Given the description of an element on the screen output the (x, y) to click on. 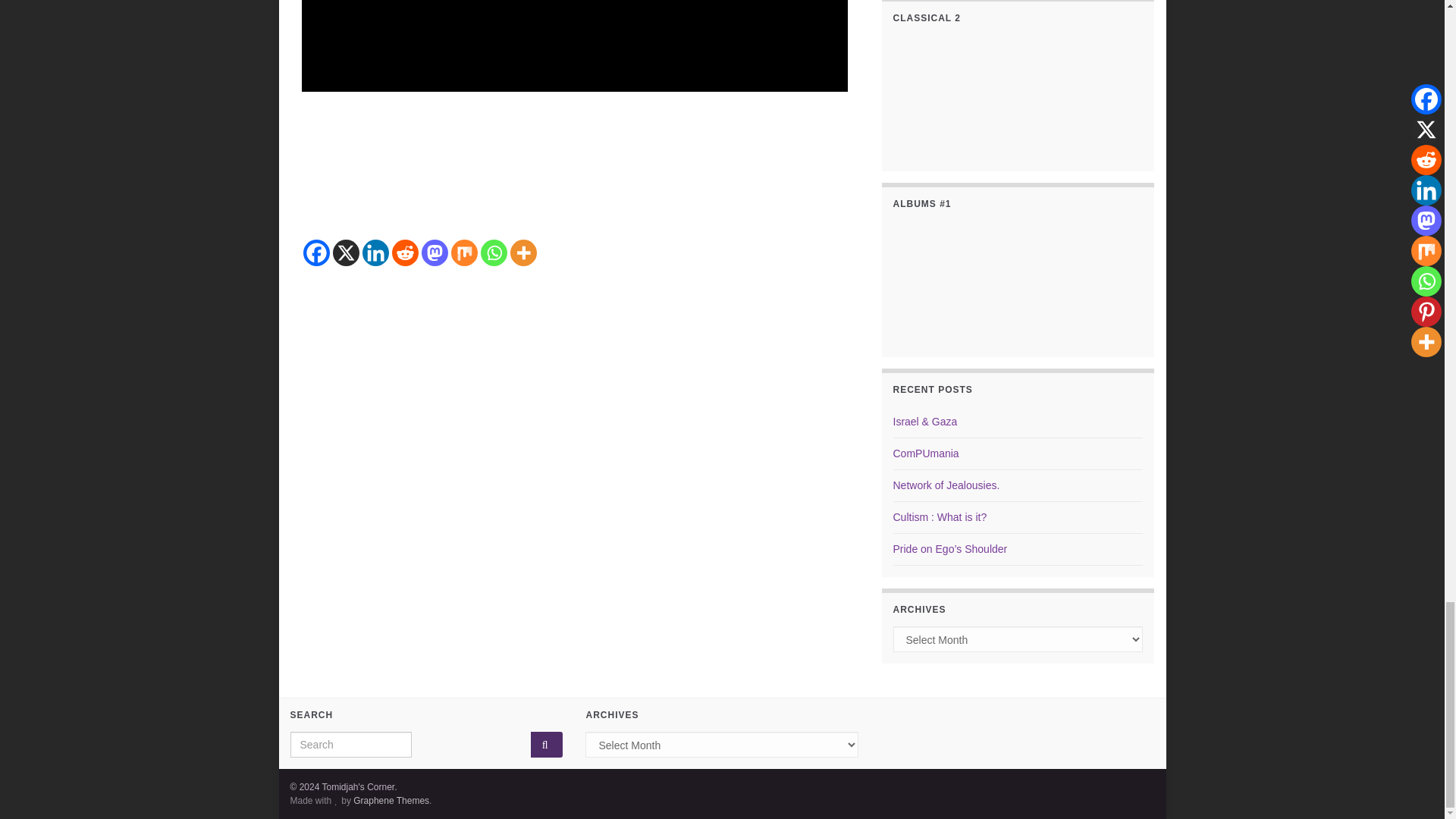
Linkedin (375, 252)
Mix (463, 252)
Whatsapp (493, 252)
X (344, 252)
Mastodon (435, 252)
Reddit (404, 252)
Facebook (316, 252)
More (522, 252)
